Given the description of an element on the screen output the (x, y) to click on. 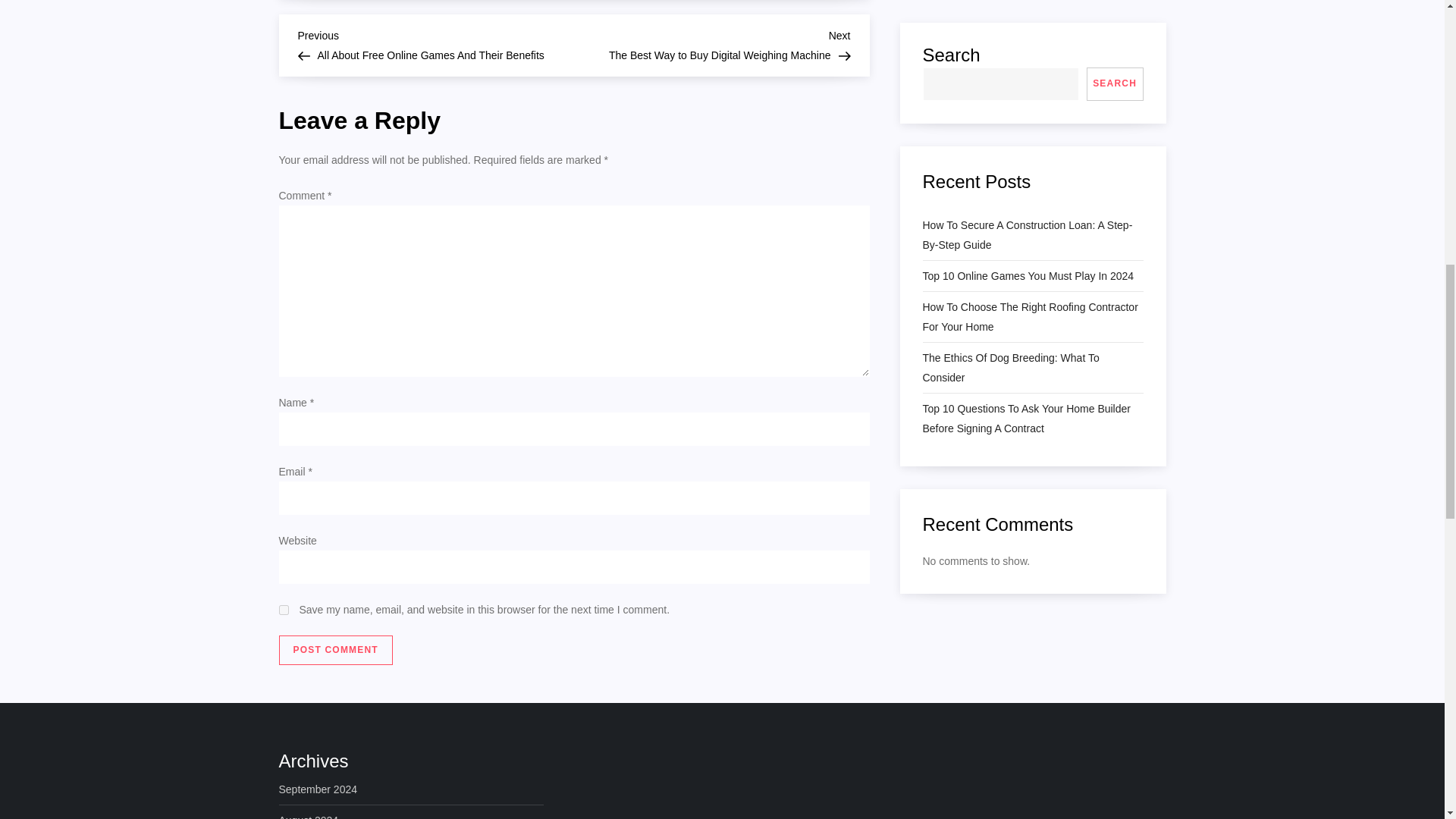
August 2024 (711, 43)
yes (309, 814)
Post Comment (283, 610)
Post Comment (336, 650)
September 2024 (336, 650)
